Given the description of an element on the screen output the (x, y) to click on. 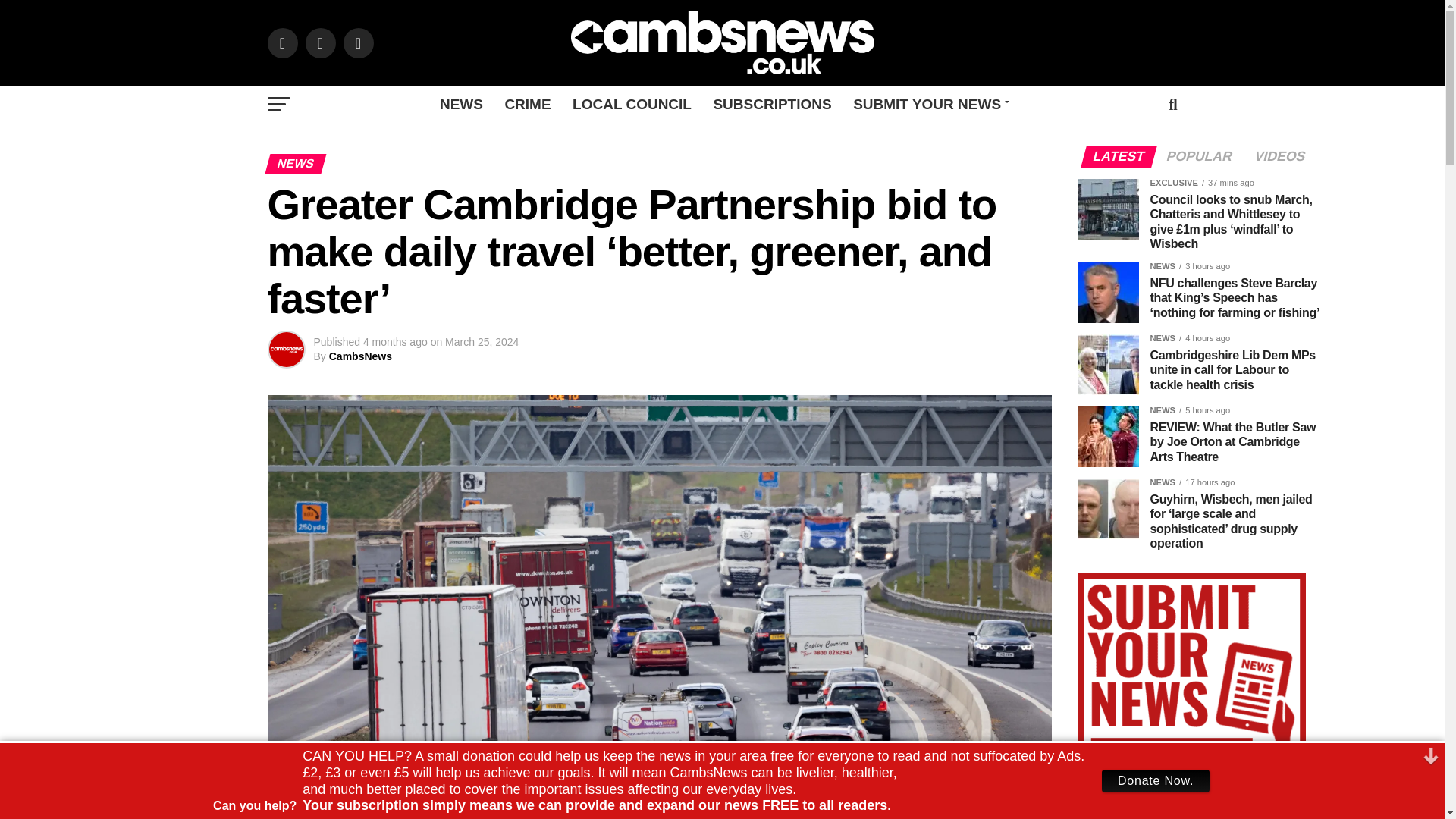
LOCAL COUNCIL (631, 104)
SUBMIT YOUR NEWS (928, 104)
NEWS (461, 104)
Posts by CambsNews (360, 356)
CRIME (527, 104)
SUBSCRIPTIONS (771, 104)
